Given the description of an element on the screen output the (x, y) to click on. 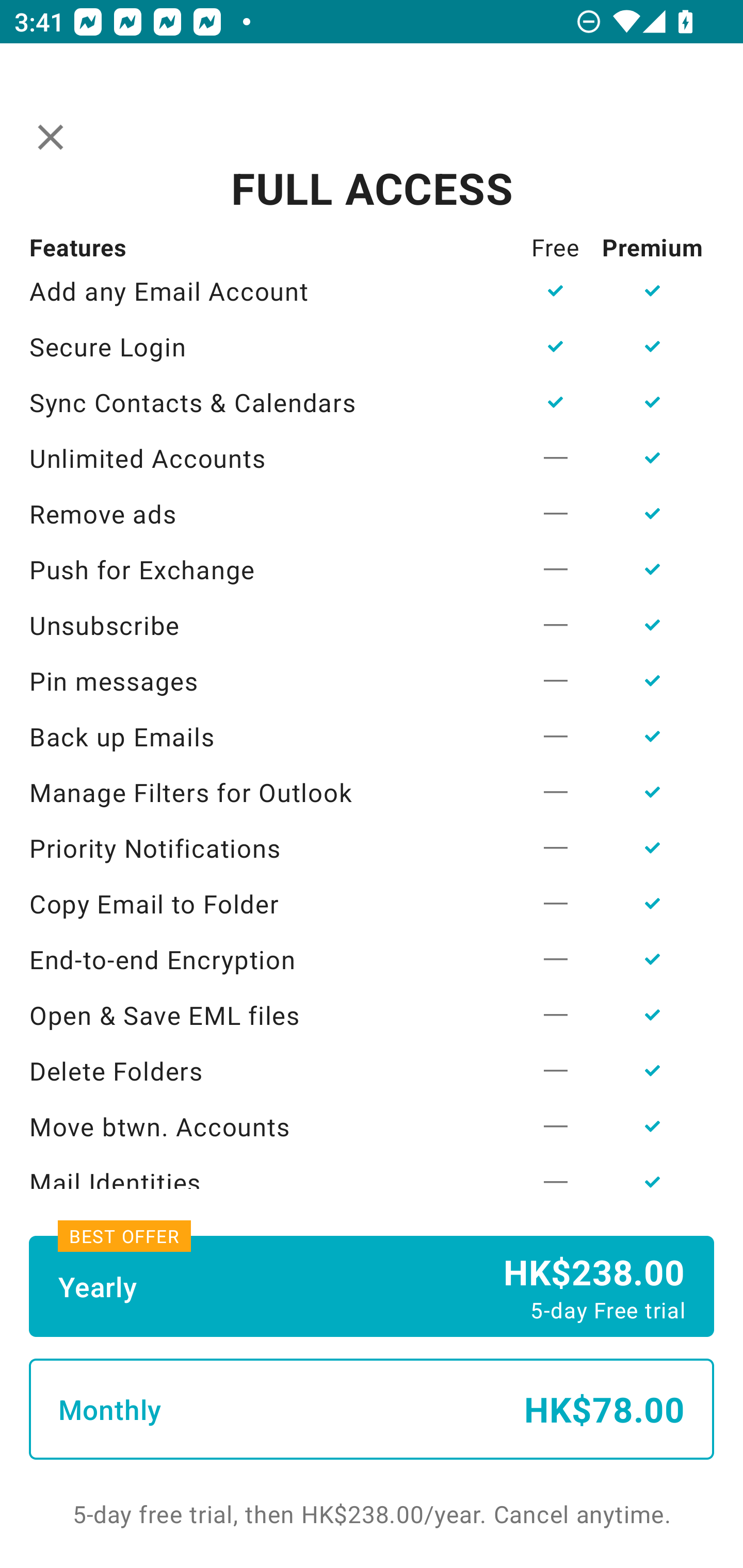
Yearly HK$238.00 5-day Free trial (371, 1286)
Monthly HK$78.00 (371, 1408)
